Given the description of an element on the screen output the (x, y) to click on. 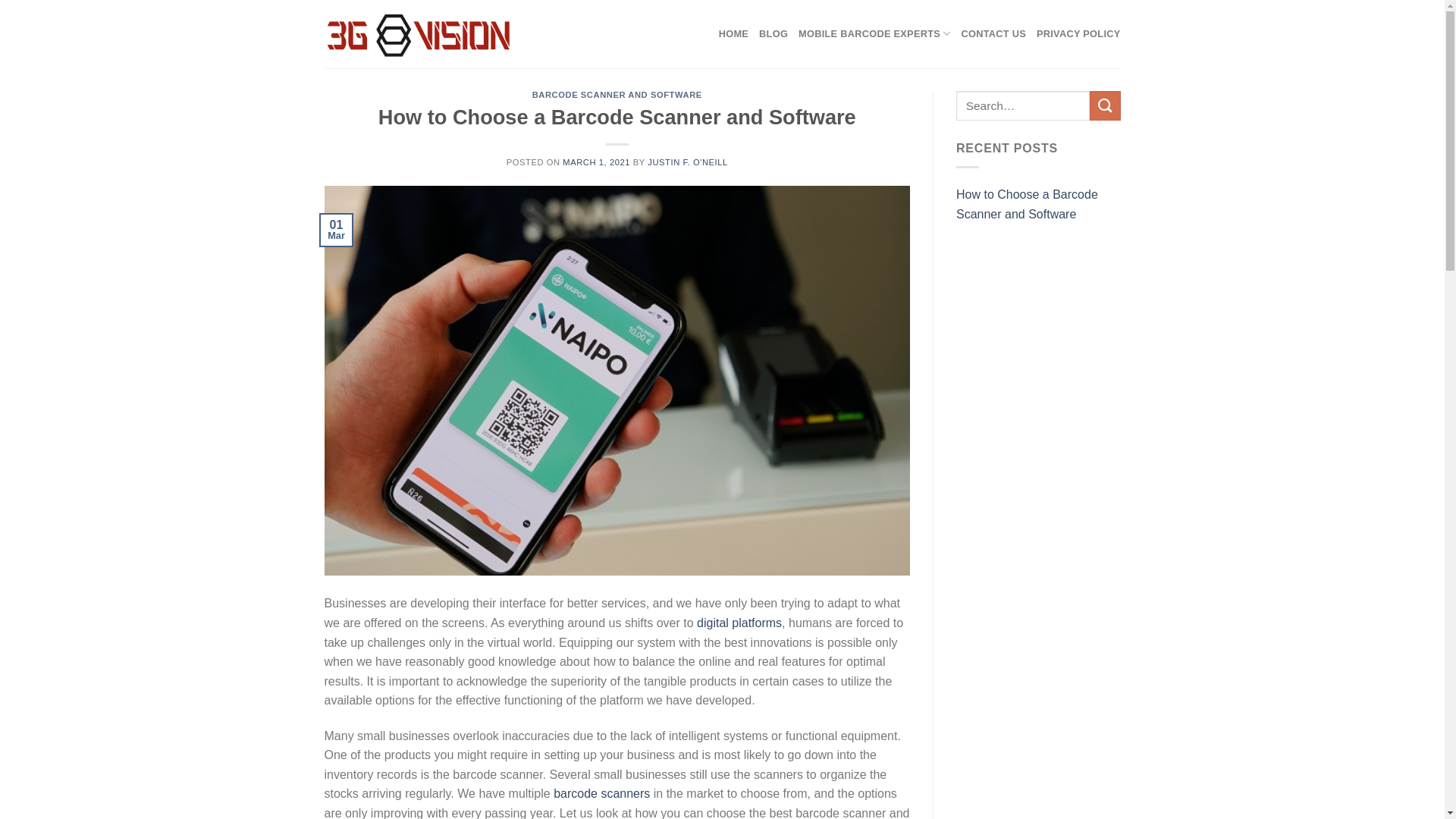
BLOG Element type: text (773, 33)
MOBILE BARCODE EXPERTS Element type: text (874, 33)
HOME Element type: text (733, 33)
3G Vision - Tech Barcode Image Processing Element type: hover (418, 33)
BARCODE SCANNER AND SOFTWARE Element type: text (617, 94)
How to Choose a Barcode Scanner and Software Element type: text (1038, 204)
JUSTIN F. O'NEILL Element type: text (687, 161)
barcode scanners Element type: text (601, 793)
digital platforms Element type: text (738, 622)
PRIVACY POLICY Element type: text (1078, 33)
MARCH 1, 2021 Element type: text (596, 161)
CONTACT US Element type: text (993, 33)
